Given the description of an element on the screen output the (x, y) to click on. 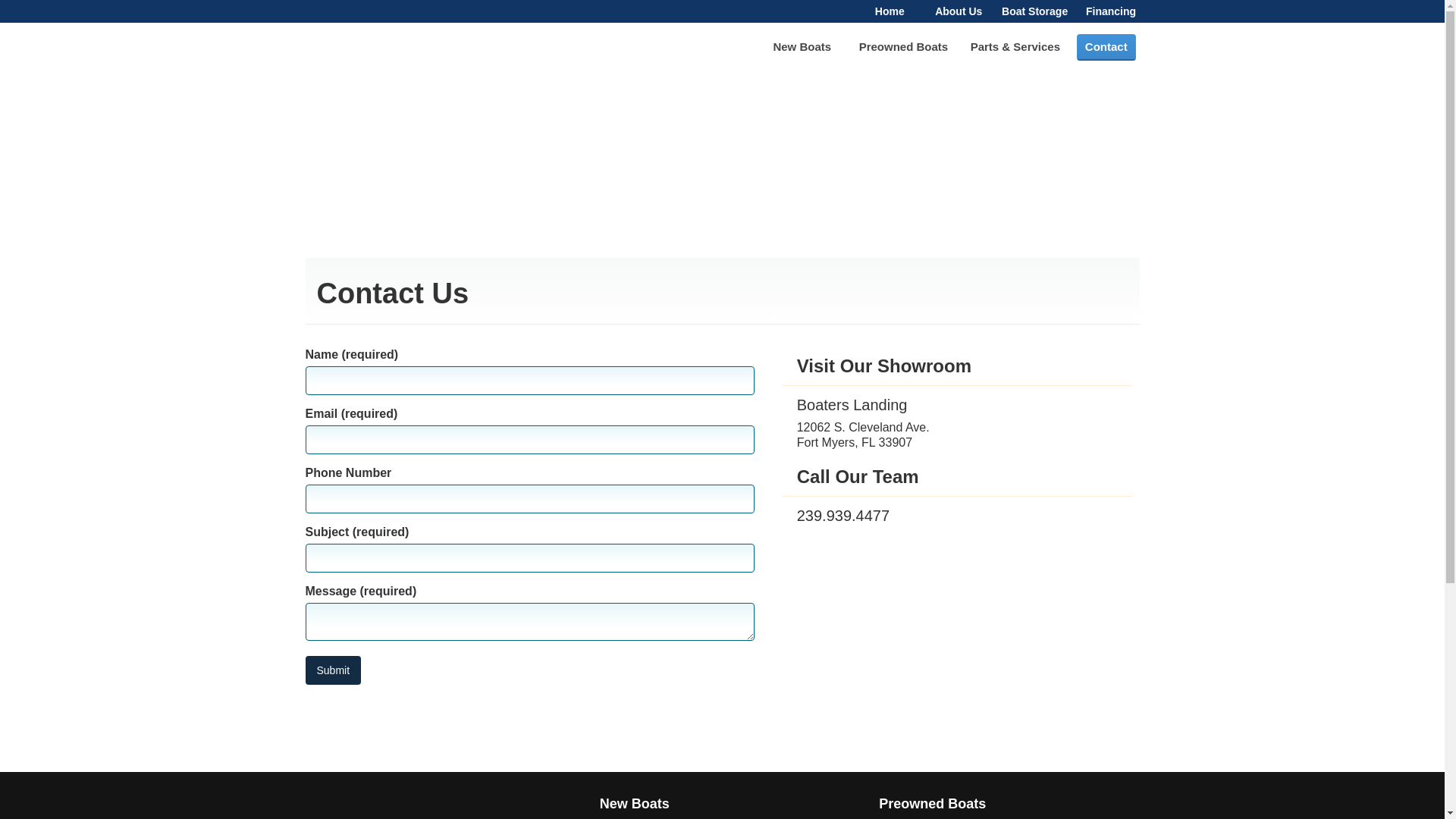
New Boats (801, 47)
Submit (332, 670)
Financing (1111, 11)
Home (889, 11)
Contact (1106, 47)
Submit (332, 670)
About Us (958, 11)
Preowned Boats (903, 47)
Boat Storage (1034, 11)
